Given the description of an element on the screen output the (x, y) to click on. 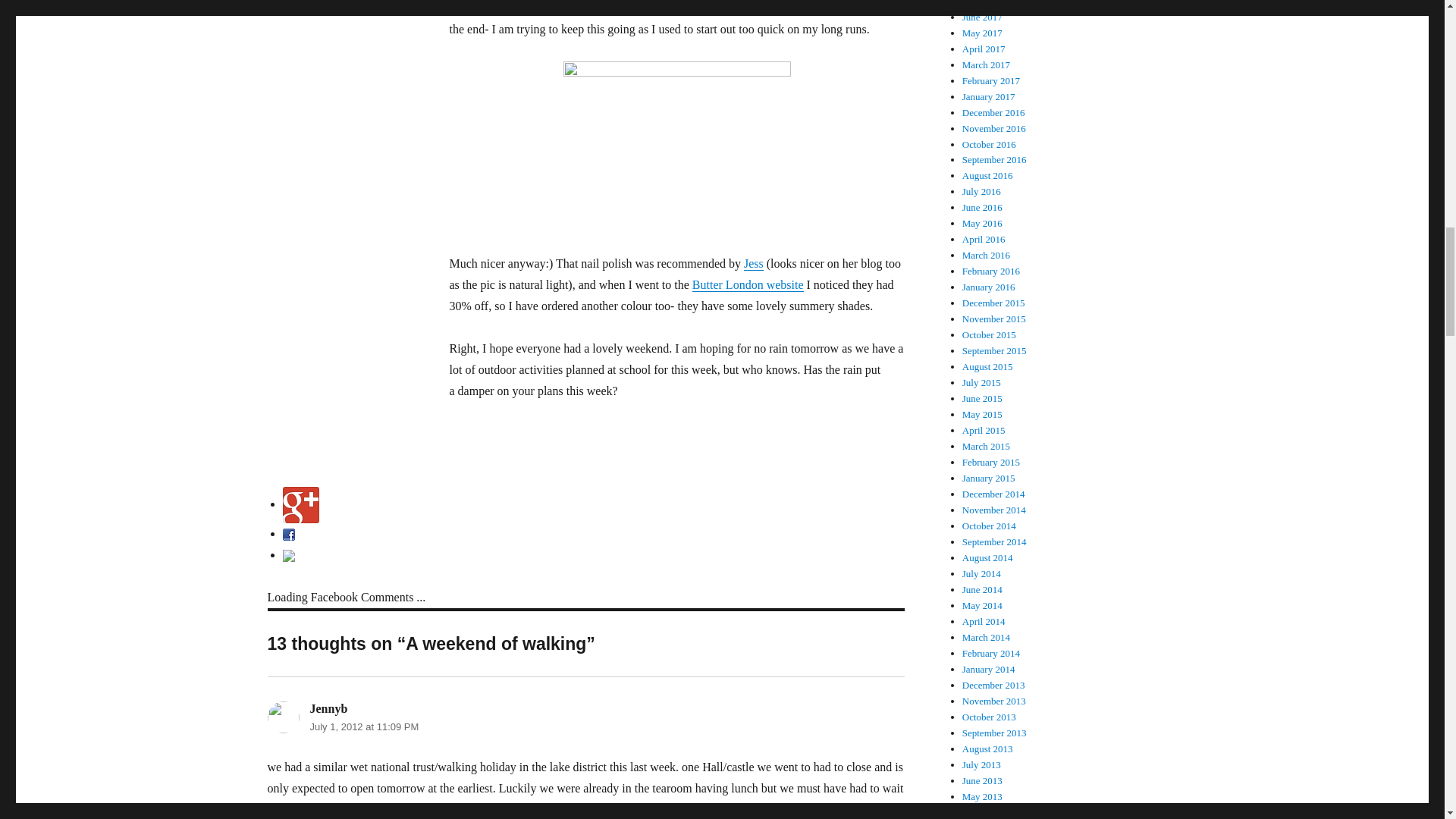
Jess (753, 263)
Butter London website (748, 284)
DSC03770 (676, 146)
July 1, 2012 at 11:09 PM (363, 726)
